Given the description of an element on the screen output the (x, y) to click on. 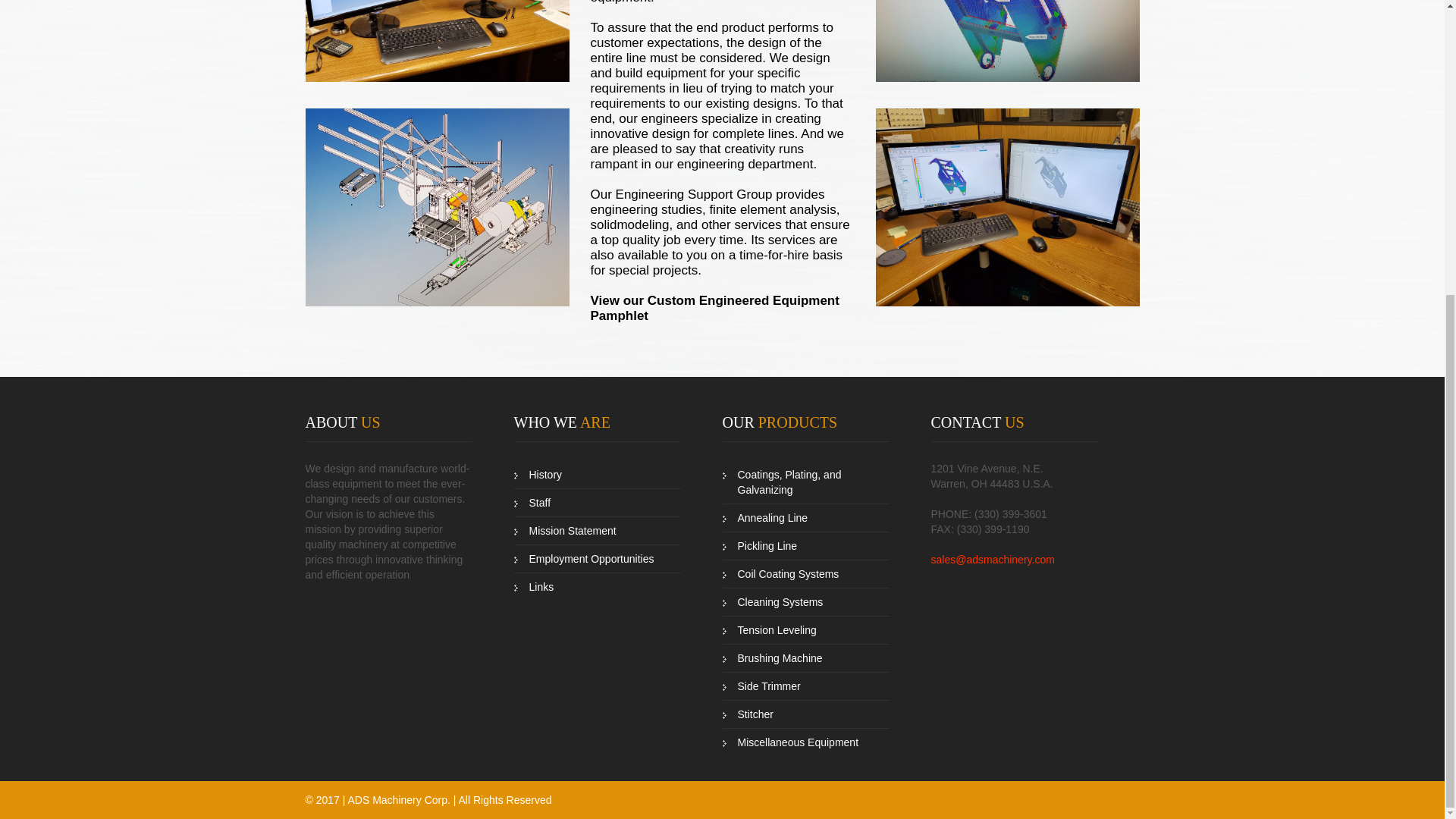
Staff (597, 502)
Mission Statement (597, 530)
History (597, 474)
Employment Opportunities (597, 559)
Custom Engineered Equipment Pamphlet (713, 307)
Coatings, Plating, and Galvanizing (805, 482)
Links (597, 586)
Annealing Line (805, 518)
